Given the description of an element on the screen output the (x, y) to click on. 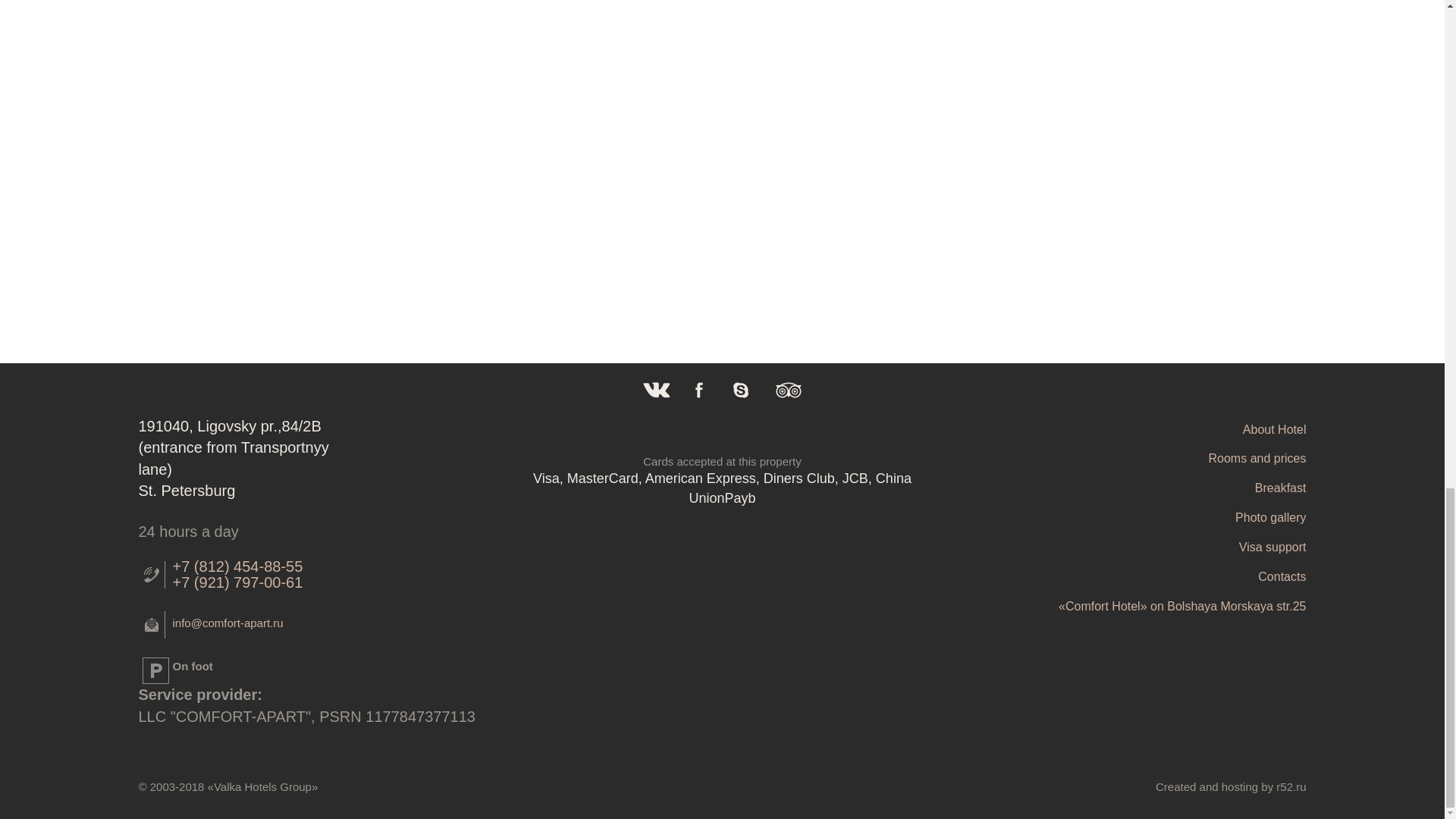
Breakfast (1116, 488)
Rooms and prices (1116, 459)
About Hotel (1116, 430)
